Given the description of an element on the screen output the (x, y) to click on. 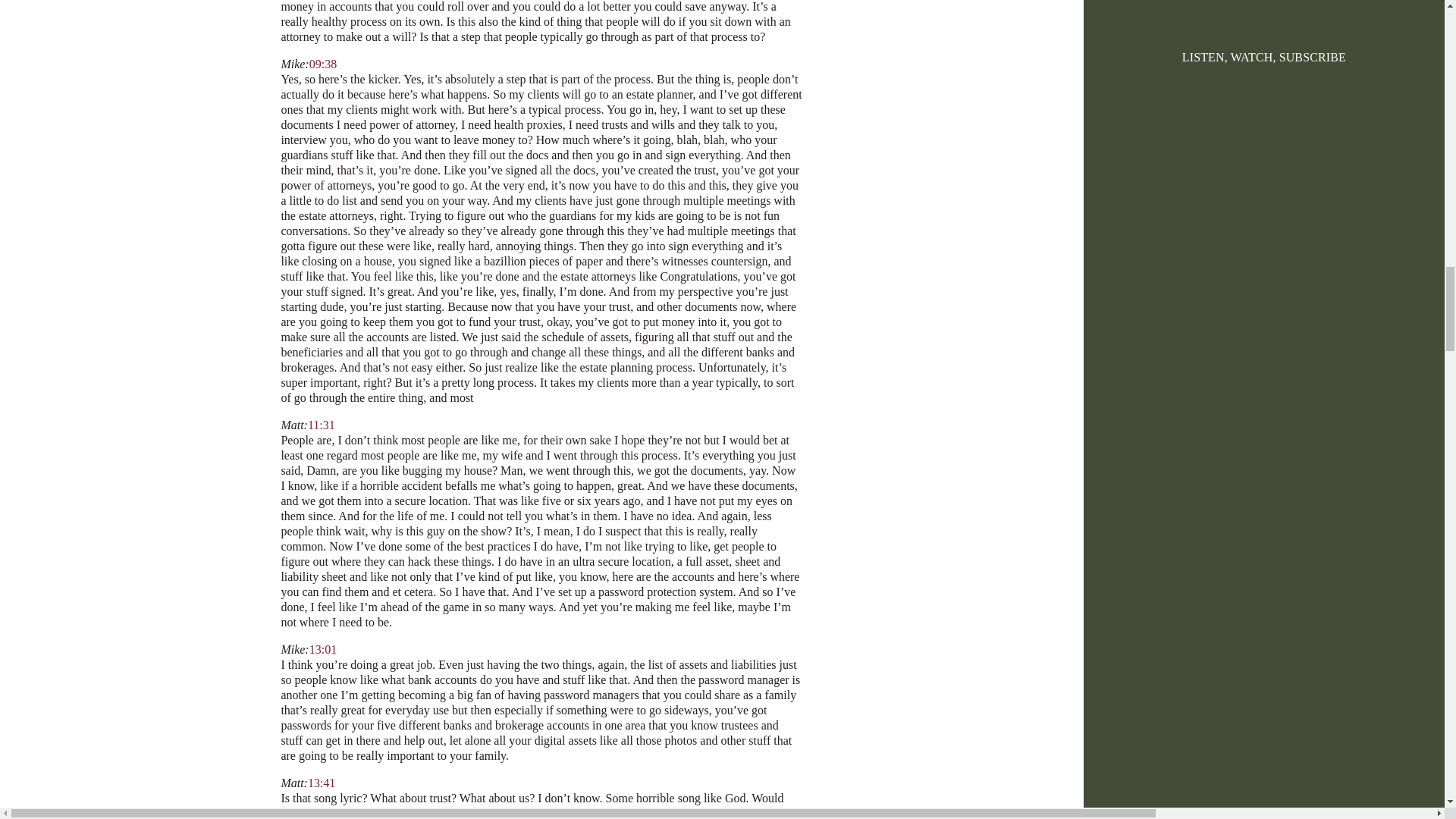
09:38 (322, 63)
11:31 (320, 424)
13:41 (320, 782)
13:01 (322, 649)
